Given the description of an element on the screen output the (x, y) to click on. 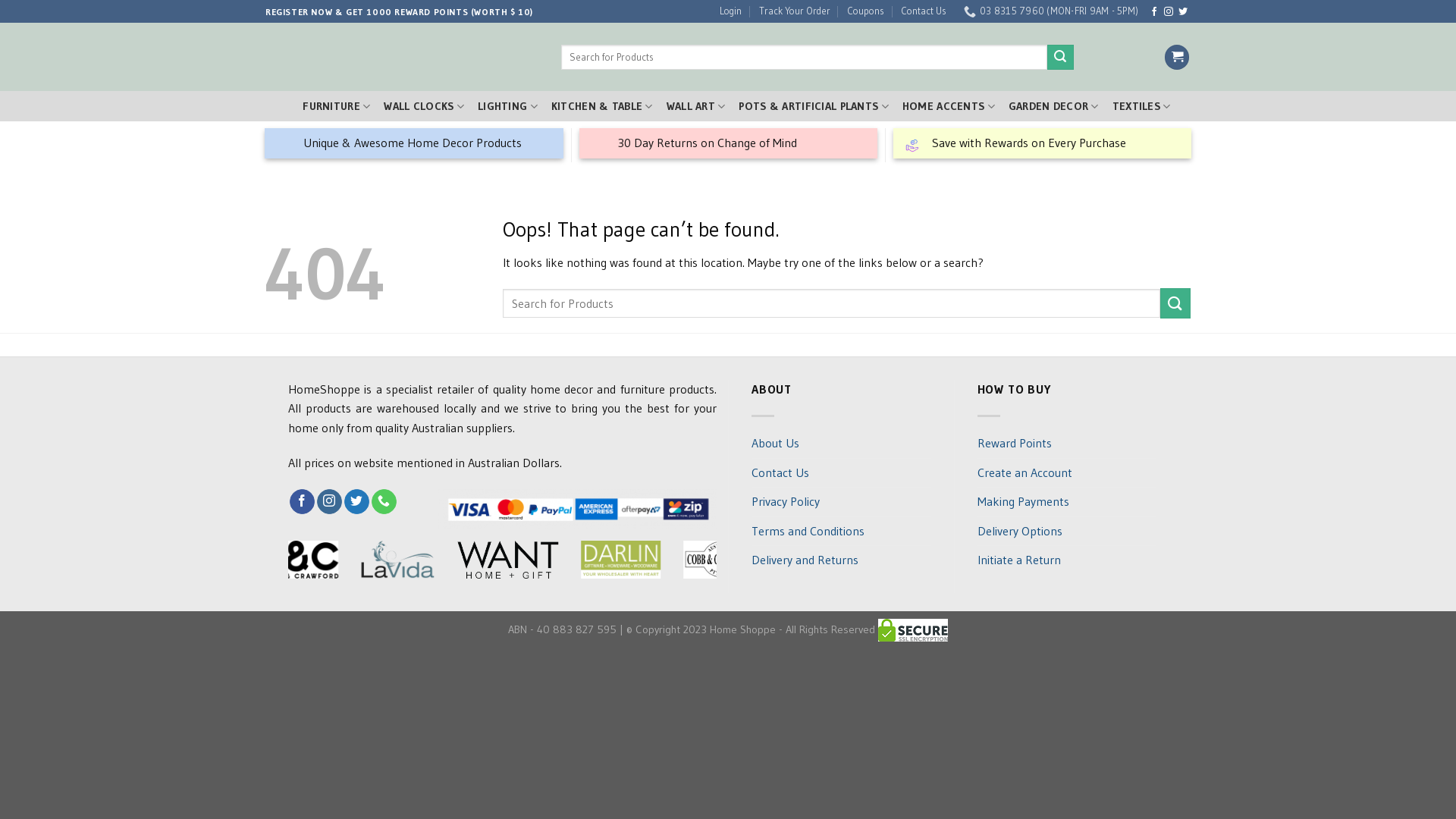
Follow on Instagram Element type: hover (329, 501)
LIGHTING Element type: text (502, 106)
KITCHEN & TABLE Element type: text (595, 106)
Privacy Policy Element type: text (785, 501)
Initiate a Return Element type: text (1018, 560)
Search Element type: text (1054, 57)
Follow on Twitter Element type: hover (356, 501)
Making Payments Element type: text (1022, 501)
Contact Us Element type: text (780, 472)
30 Day Returns on Change of Mind Element type: text (728, 143)
Terms and Conditions Element type: text (807, 531)
FURNITURE Element type: text (330, 106)
Delivery Options Element type: text (1018, 531)
Delivery and Returns Element type: text (804, 560)
HOME ACCENTS Element type: text (948, 106)
Follow on Twitter Element type: hover (1182, 11)
WALL CLOCKS Element type: text (418, 106)
Follow on Facebook Element type: hover (301, 501)
03 8315 7960 (MON-FRI 9AM - 5PM) Element type: text (1044, 11)
Contact Us Element type: text (918, 11)
POTS & ARTIFICIAL PLANTS Element type: text (807, 106)
About Us Element type: text (775, 443)
Cart Element type: hover (1176, 56)
Reward Points Element type: text (1013, 443)
TEXTILES Element type: text (1141, 106)
WALL ART Element type: text (689, 106)
Create an Account Element type: text (1023, 472)
  Element type: text (270, 106)
REGISTER NOW & GET 1000 REWARD POINTS (WORTH $ 10) Element type: text (393, 11)
GARDEN DECOR Element type: text (1053, 106)
Login Element type: text (725, 11)
Track Your Order Element type: text (788, 11)
Follow on Facebook Element type: hover (1153, 11)
Follow on Instagram Element type: hover (1168, 11)
Coupons Element type: text (859, 11)
Call us Element type: hover (383, 501)
Unique & Awesome Home Decor Products Element type: text (414, 143)
Save with Rewards on Every Purchase Element type: text (1042, 143)
